Given the description of an element on the screen output the (x, y) to click on. 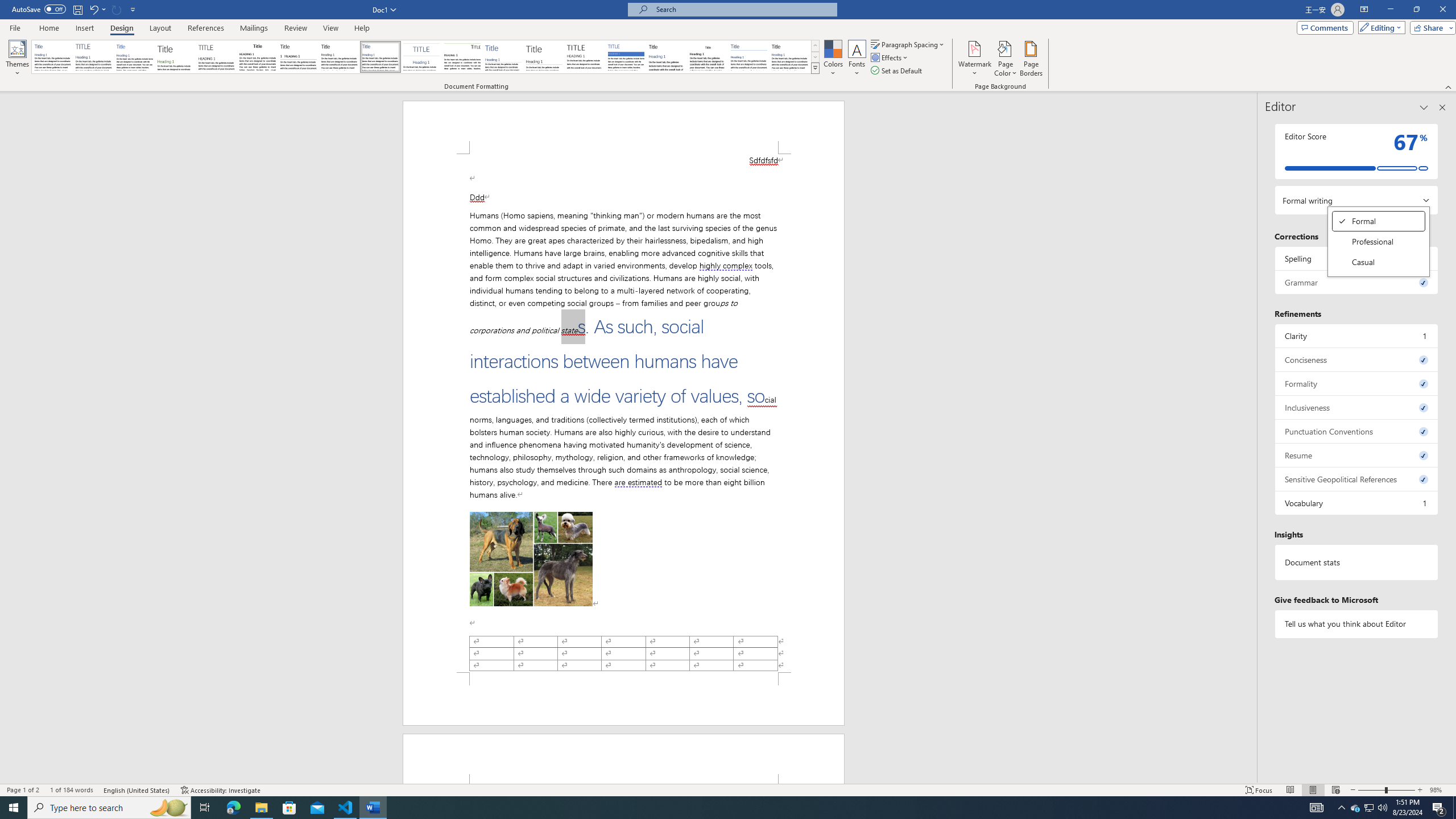
File Explorer - 1 running window (261, 807)
Watermark (974, 58)
Resume, 0 issues. Press space or enter to review items. (1356, 454)
Document statistics (1356, 561)
Word 2010 (749, 56)
Basic (Simple) (135, 56)
Conciseness, 0 issues. Press space or enter to review items. (1356, 359)
